Given the description of an element on the screen output the (x, y) to click on. 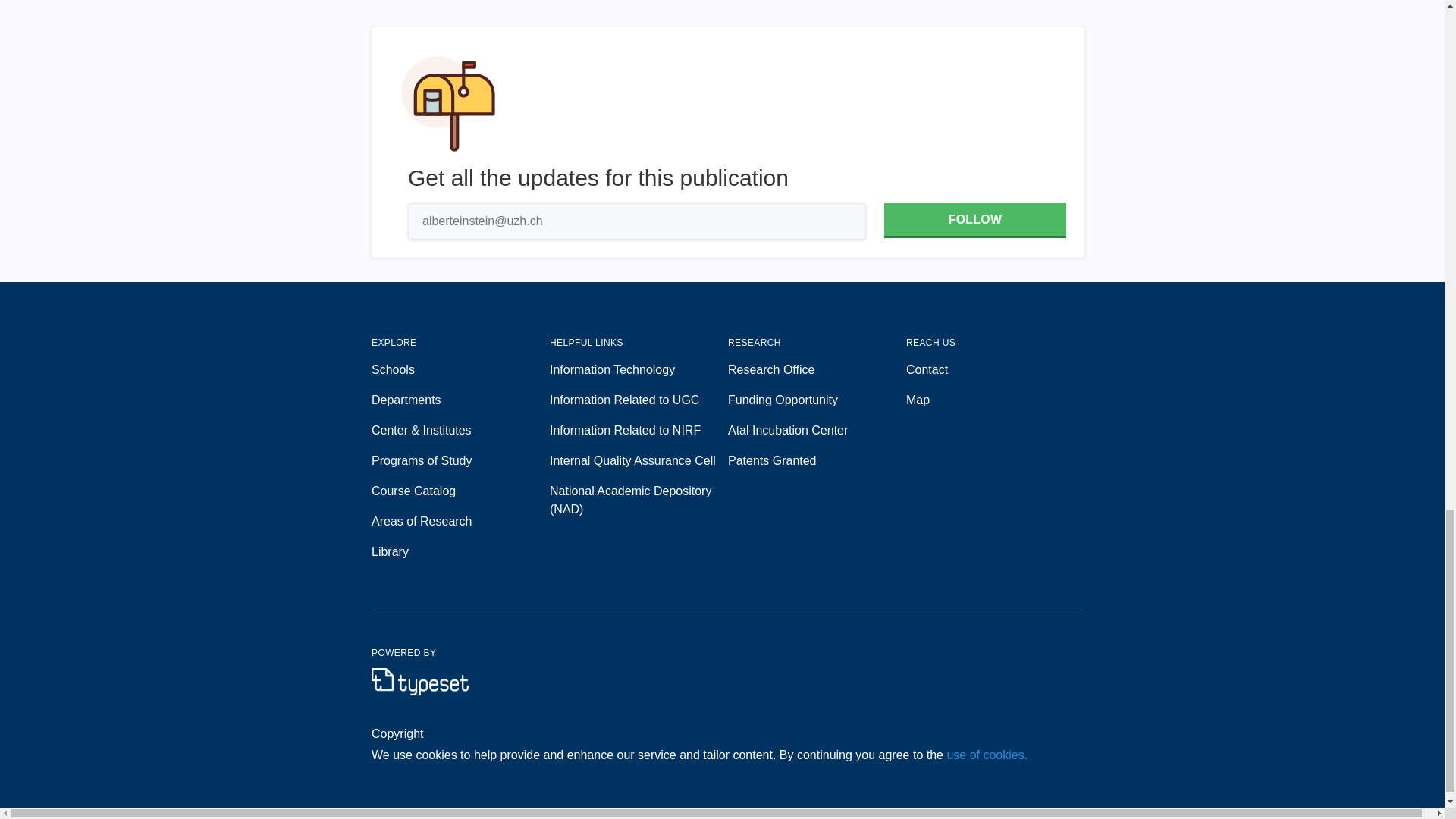
Logo of Typeset (419, 681)
Subscribe form hero illustration (448, 103)
Internal Quality Assurance Cell (639, 461)
Course Catalog (460, 491)
Library (460, 551)
Departments (460, 400)
Information Related to NIRF (639, 430)
Areas of Research (460, 521)
Schools (460, 370)
Information Related to UGC (639, 400)
